Given the description of an element on the screen output the (x, y) to click on. 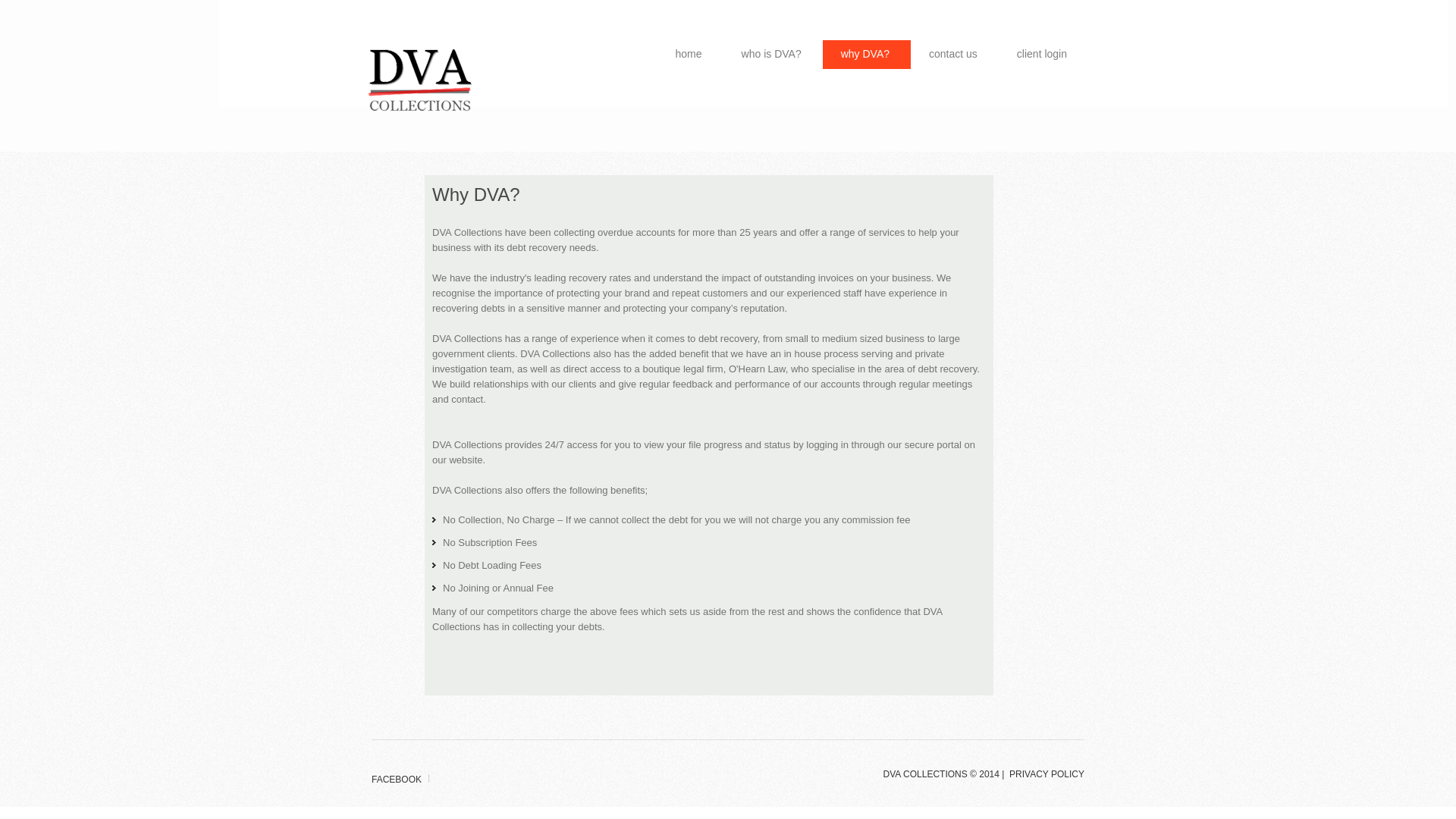
PRIVACY POLICY Element type: text (1046, 773)
why DVA? Element type: text (866, 54)
home Element type: text (690, 54)
contact us Element type: text (954, 54)
who is DVA? Element type: text (772, 54)
DVA Collections Element type: text (420, 84)
FACEBOOK Element type: text (396, 779)
client login Element type: text (1043, 54)
